Given the description of an element on the screen output the (x, y) to click on. 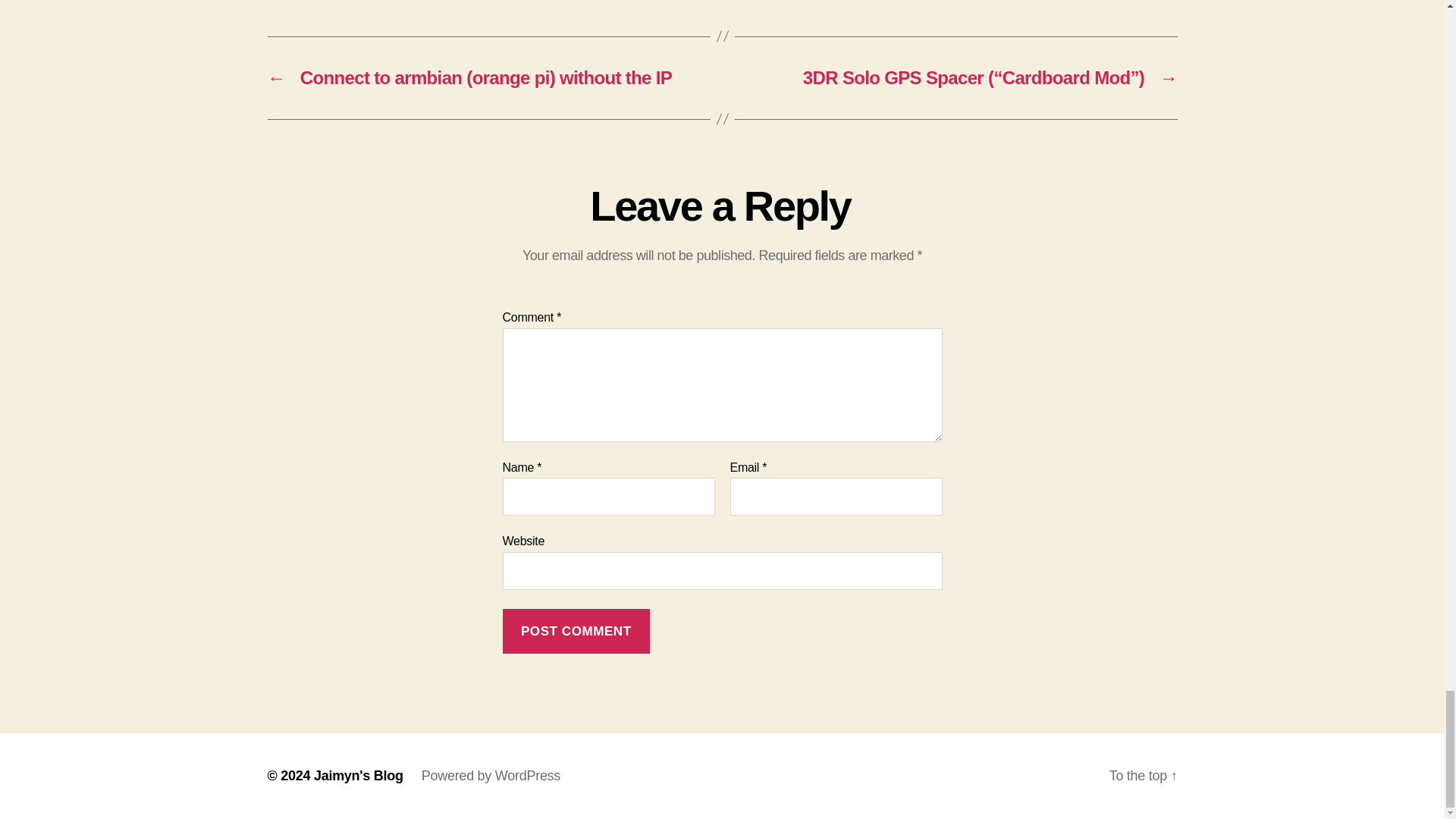
Powered by WordPress (491, 775)
Post Comment (575, 631)
Jaimyn's Blog (358, 775)
Post Comment (575, 631)
